Given the description of an element on the screen output the (x, y) to click on. 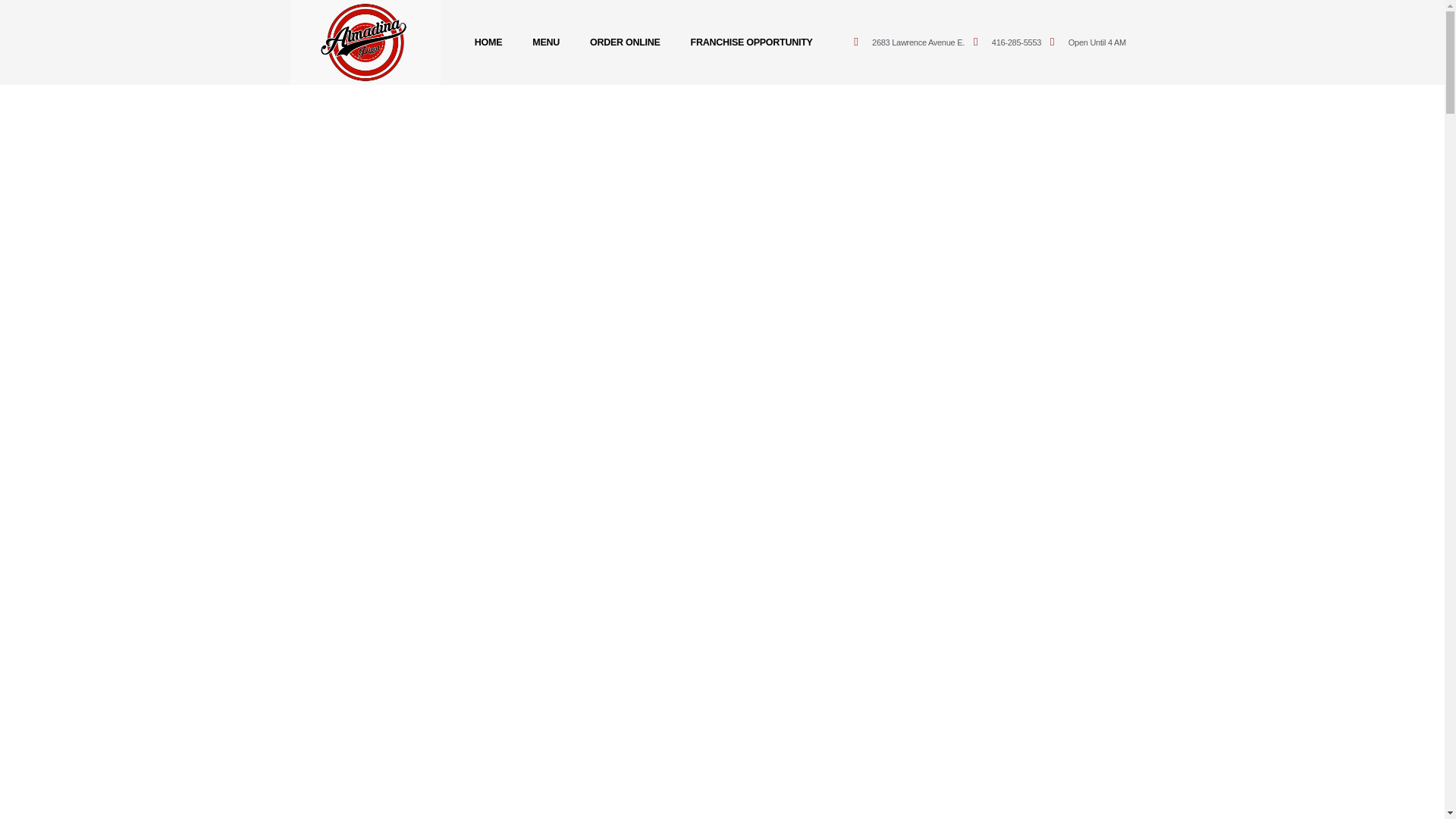
HOME (488, 42)
ORDER ONLINE (625, 42)
FRANCHISE OPPORTUNITY (751, 42)
MENU (545, 42)
